Given the description of an element on the screen output the (x, y) to click on. 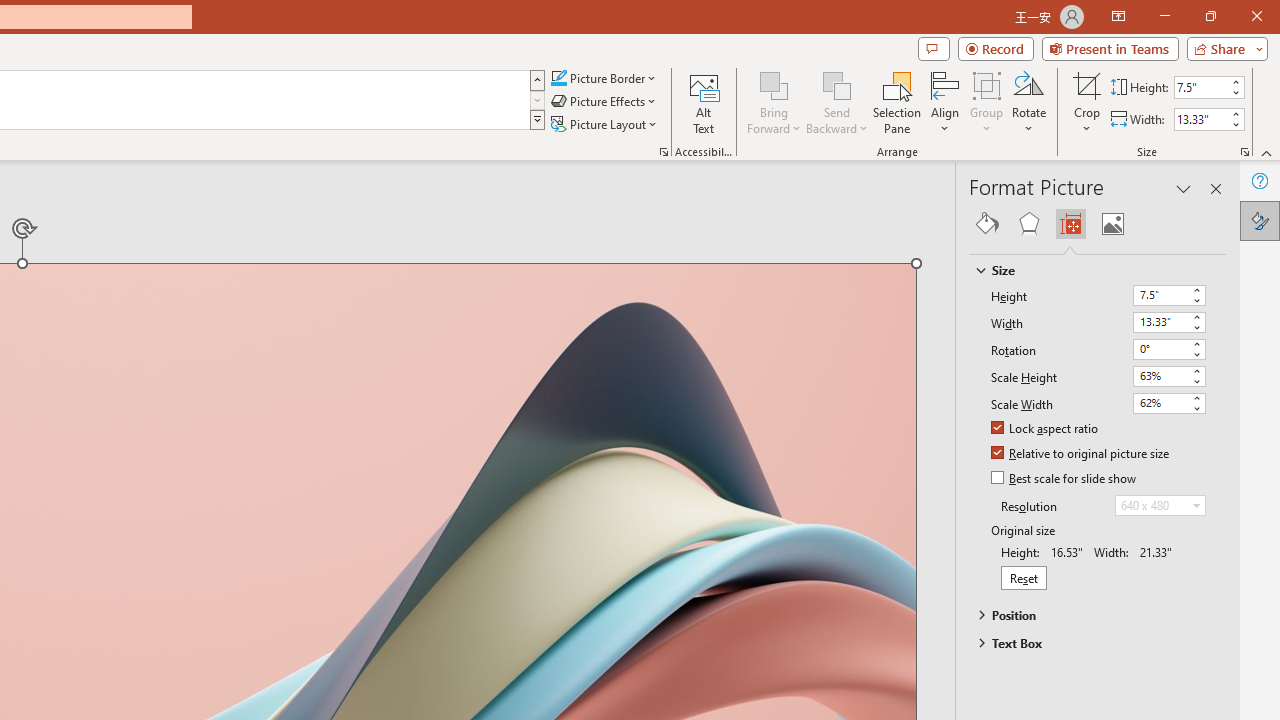
Position (1088, 615)
Selection Pane... (897, 102)
Width (1160, 322)
Crop (1087, 102)
Crop (1087, 84)
Resolution (1159, 505)
Scale Height (1168, 376)
Picture Border Blue, Accent 1 (558, 78)
